Given the description of an element on the screen output the (x, y) to click on. 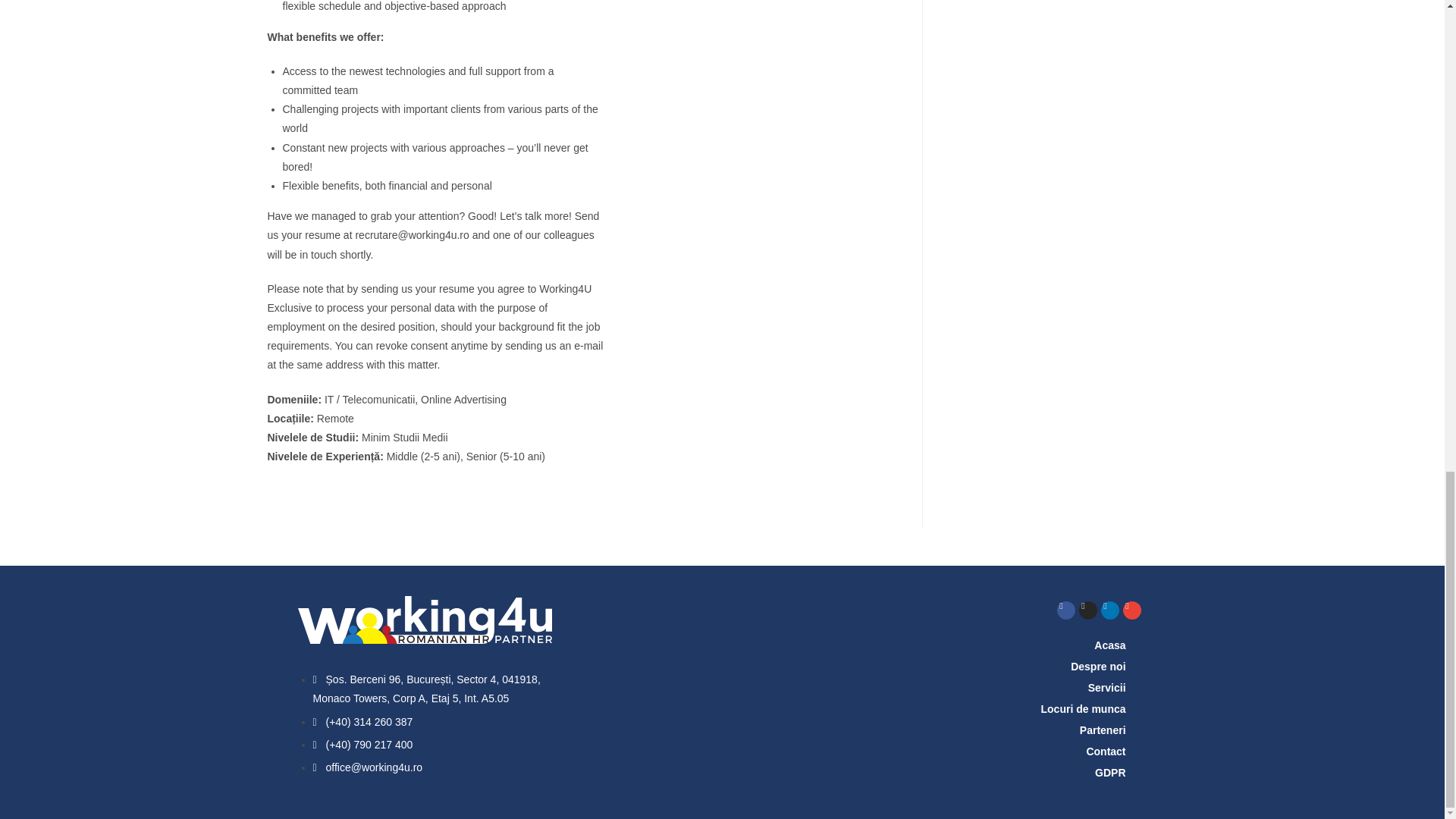
Servicii (1073, 687)
Locuri de munca (1073, 708)
Contact (1073, 751)
Despre noi (1073, 666)
Acasa (1073, 645)
Parteneri (1073, 730)
